Given the description of an element on the screen output the (x, y) to click on. 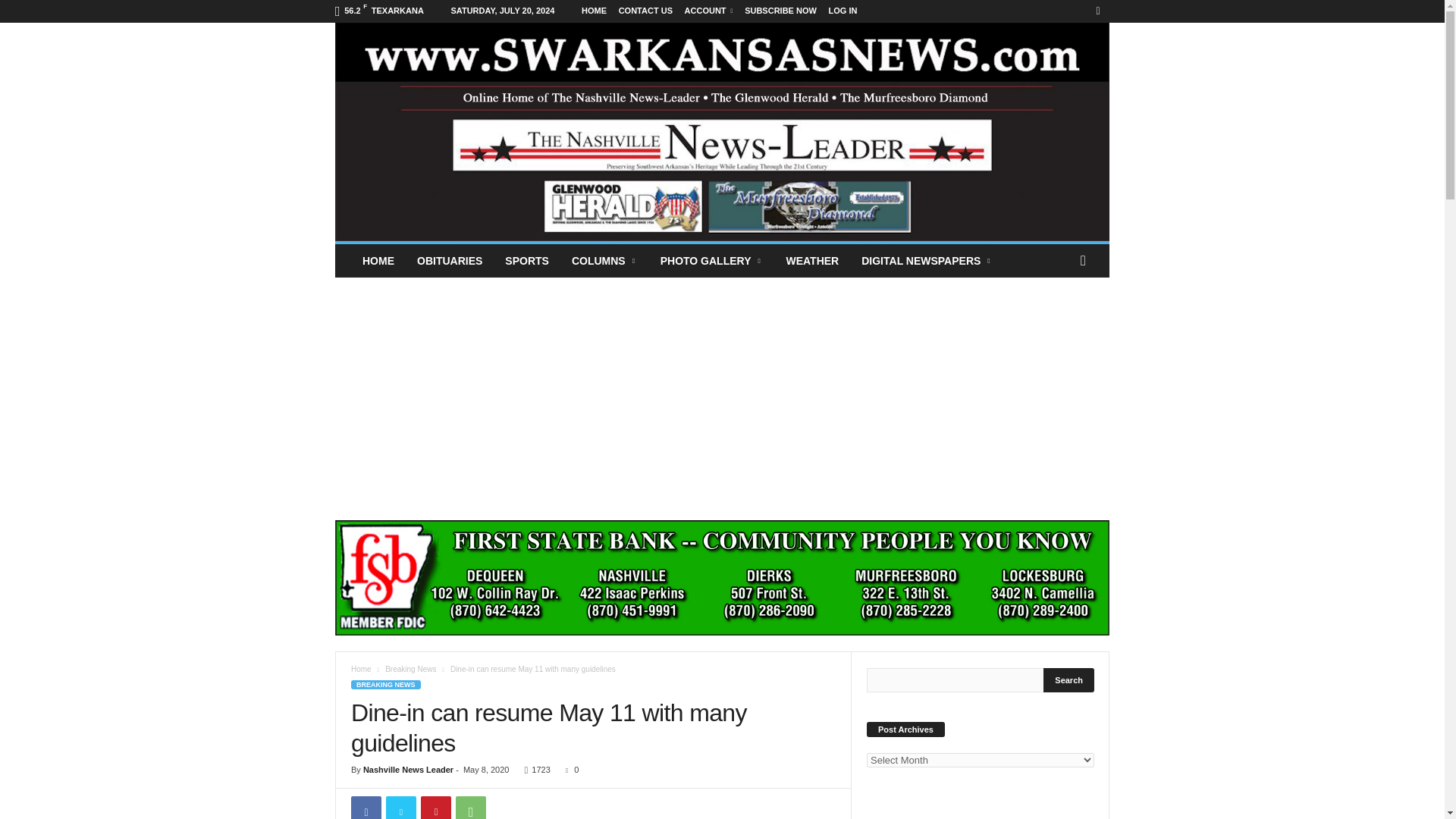
View all posts in Breaking News (410, 669)
WhatsApp (470, 807)
ACCOUNT (708, 10)
OBITUARIES (449, 260)
HOME (593, 10)
SUBSCRIBE NOW (780, 10)
Facebook (365, 807)
CONTACT US (645, 10)
HOME (378, 260)
Twitter (400, 807)
LOG IN (842, 10)
Pinterest (435, 807)
Search (1068, 680)
